Given the description of an element on the screen output the (x, y) to click on. 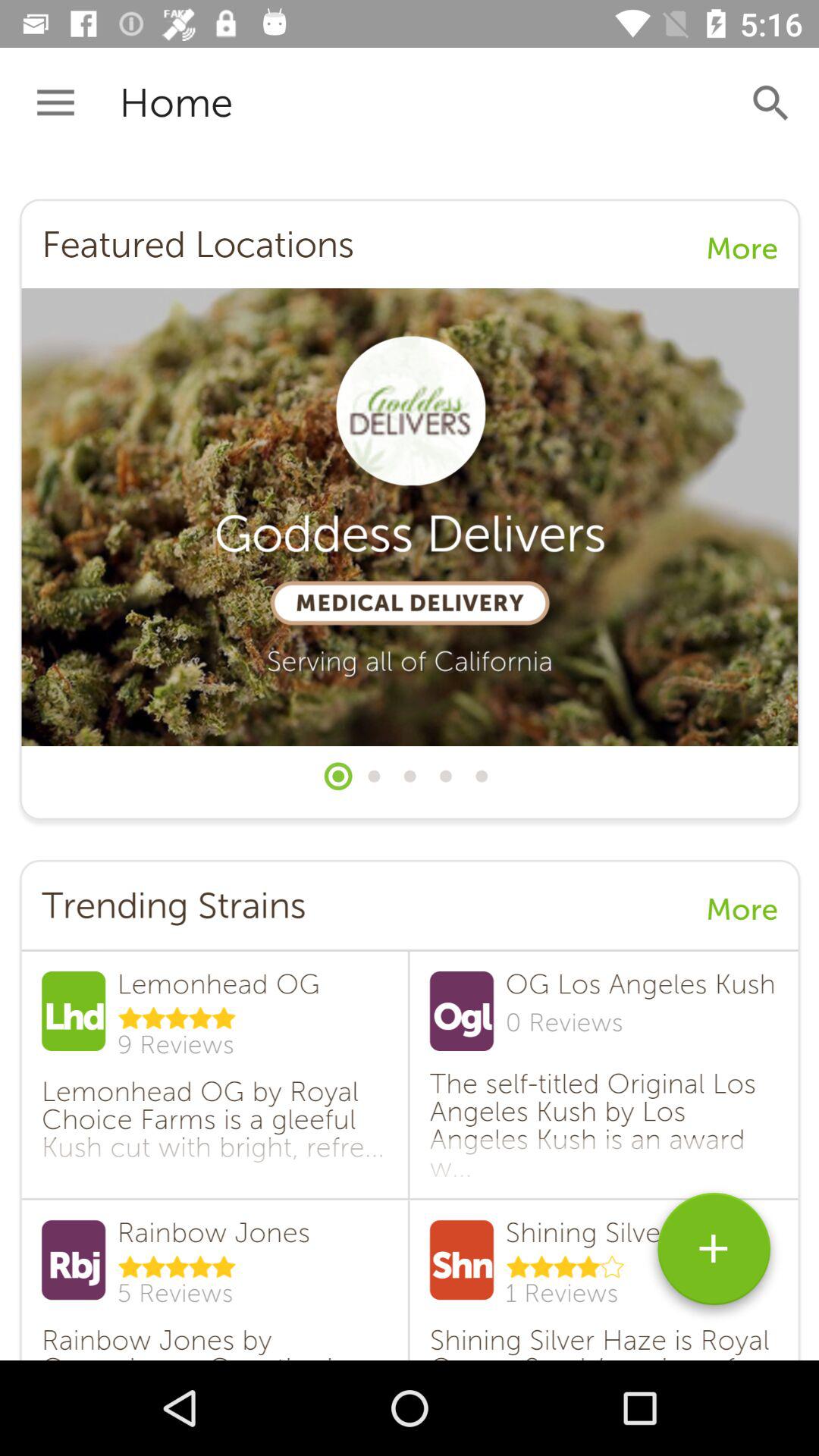
go to add bar (713, 1254)
